Given the description of an element on the screen output the (x, y) to click on. 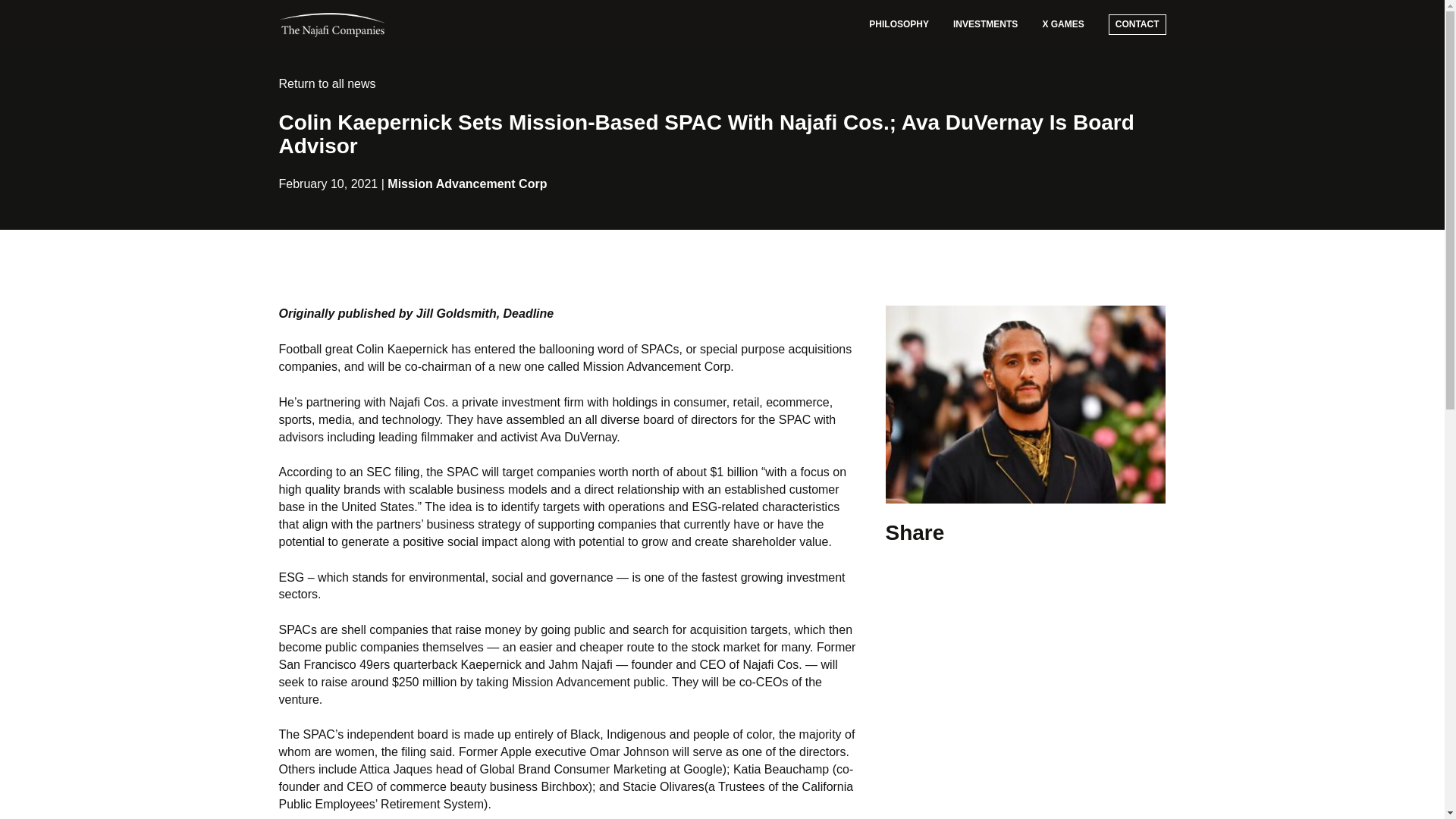
INVESTMENTS (984, 24)
CONTACT (1137, 24)
X GAMES (1062, 24)
Return to all news (327, 83)
Contact (1137, 24)
X Games (1062, 24)
PHILOSOPHY (898, 24)
Investments (984, 24)
Philosophy (898, 24)
Deadline (528, 313)
